Given the description of an element on the screen output the (x, y) to click on. 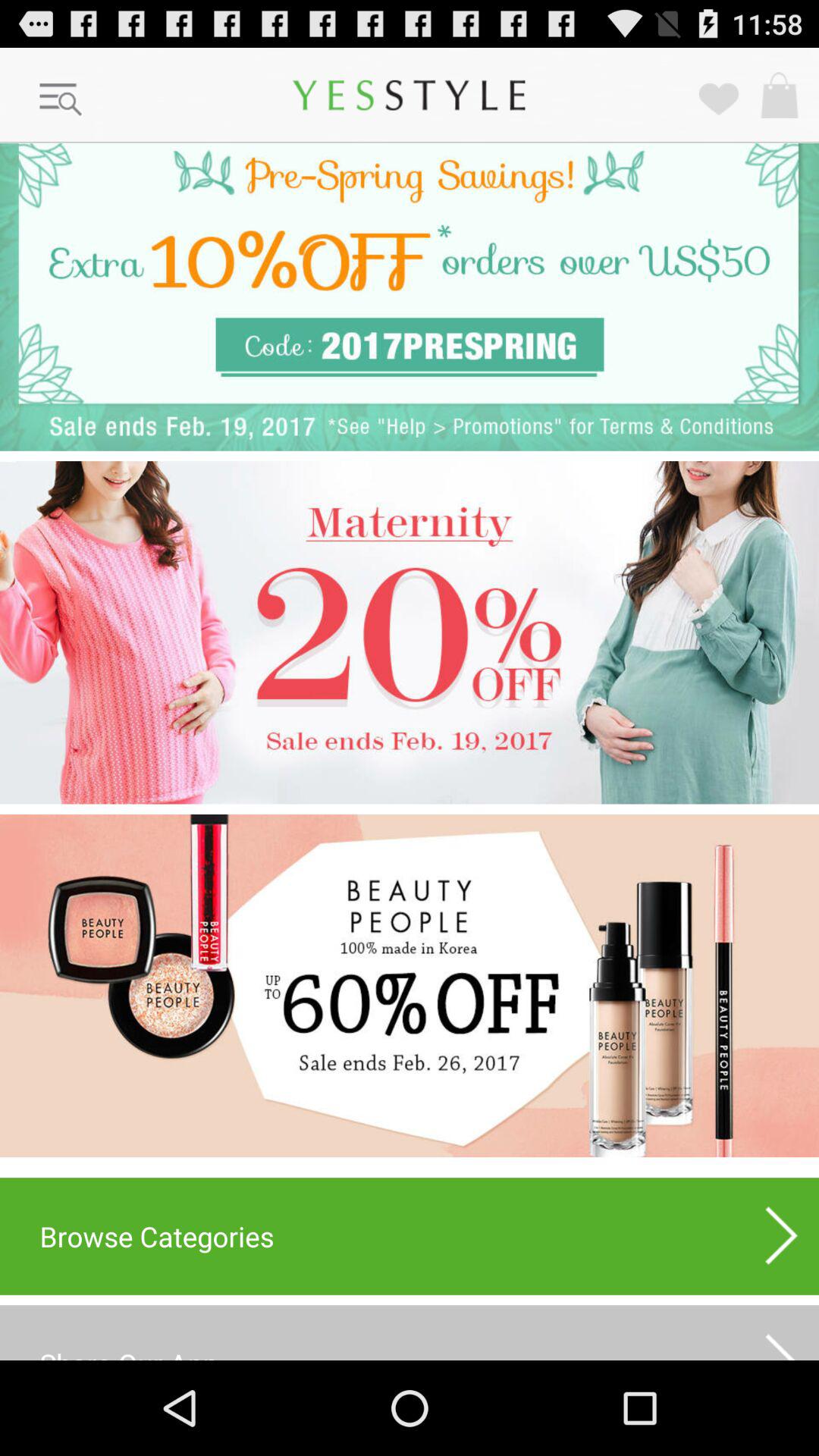
open this announce (409, 632)
